Given the description of an element on the screen output the (x, y) to click on. 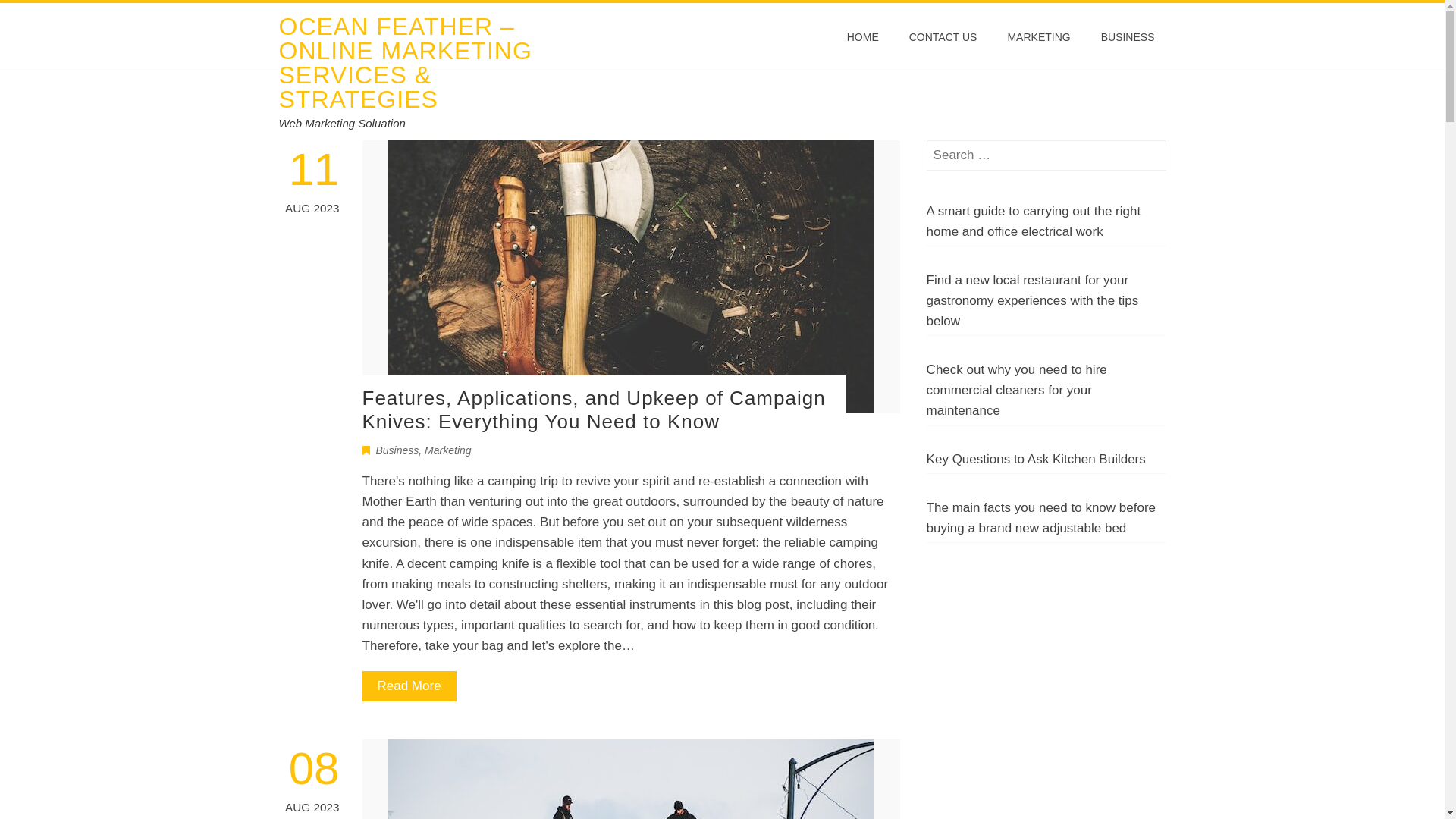
Business Element type: text (397, 450)
HOME Element type: text (862, 36)
Search Element type: text (35, 15)
Key Questions to Ask Kitchen Builders Element type: text (1035, 458)
Web Marketing Soluation Element type: text (342, 122)
BUSINESS Element type: text (1127, 36)
Marketing Element type: text (447, 450)
CONTACT US Element type: text (942, 36)
MARKETING Element type: text (1038, 36)
Read More Element type: text (409, 686)
